Given the description of an element on the screen output the (x, y) to click on. 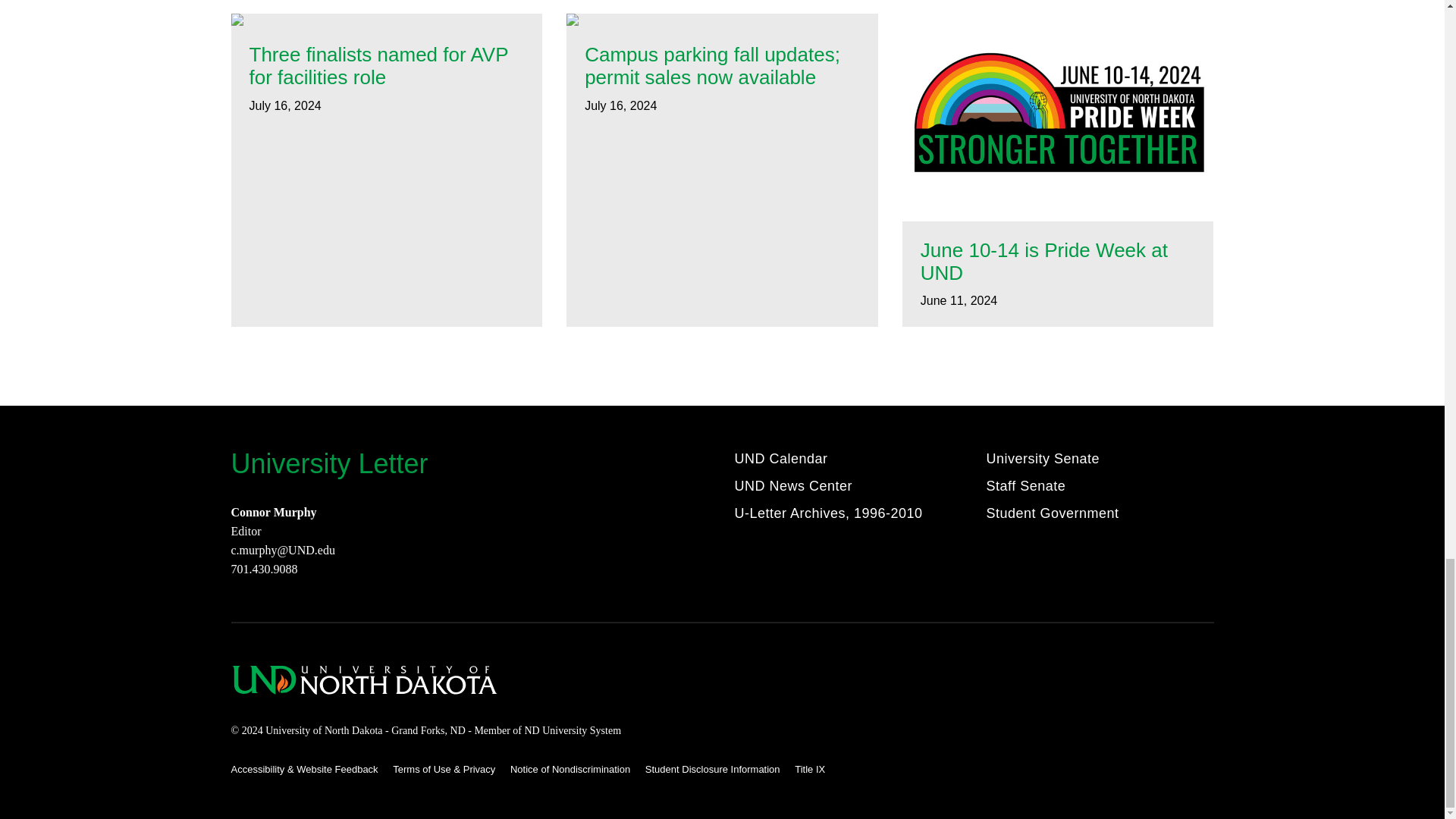
Three finalists named for AVP for facilities role (386, 66)
UND News Center (792, 487)
June 10-14 is Pride Week at UND (1057, 262)
Campus parking fall updates; permit sales now available (722, 66)
701.430.9088 (263, 568)
UND Calendar (780, 460)
